Given the description of an element on the screen output the (x, y) to click on. 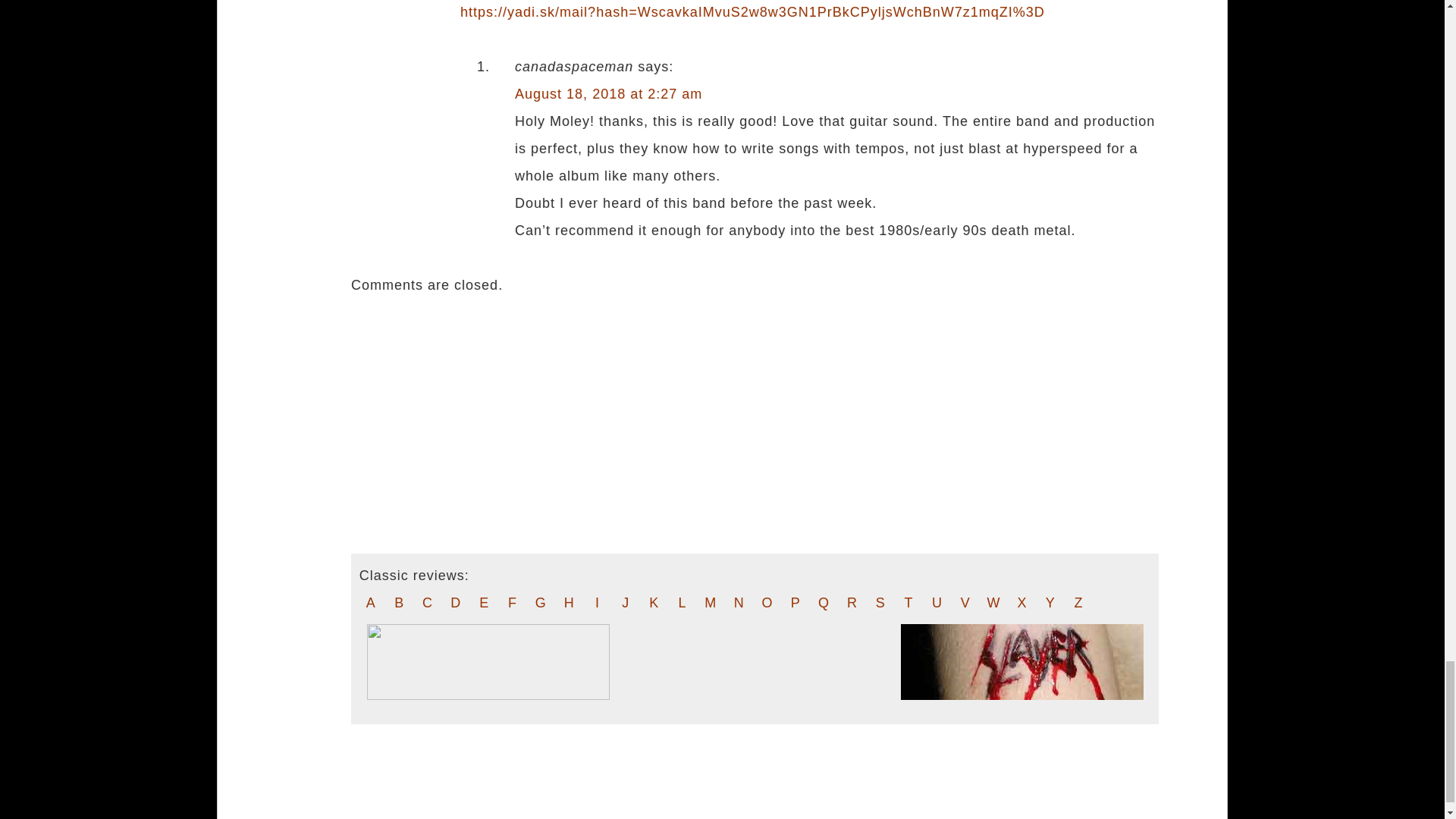
August 18, 2018 at 2:27 am (608, 93)
